Given the description of an element on the screen output the (x, y) to click on. 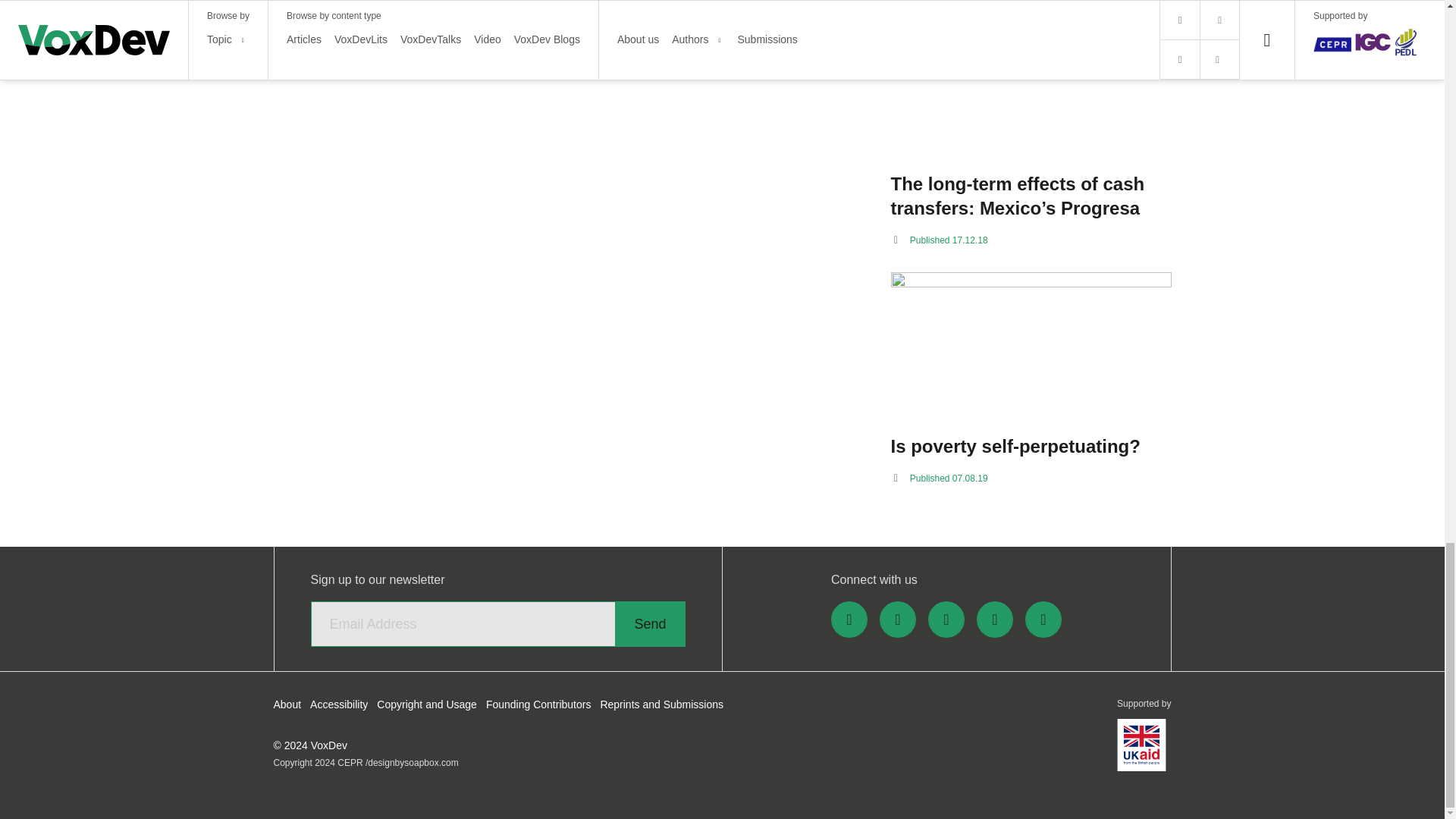
Send (649, 624)
Is poverty self-perpetuating? (1029, 347)
Is poverty self-perpetuating? (1029, 446)
